Given the description of an element on the screen output the (x, y) to click on. 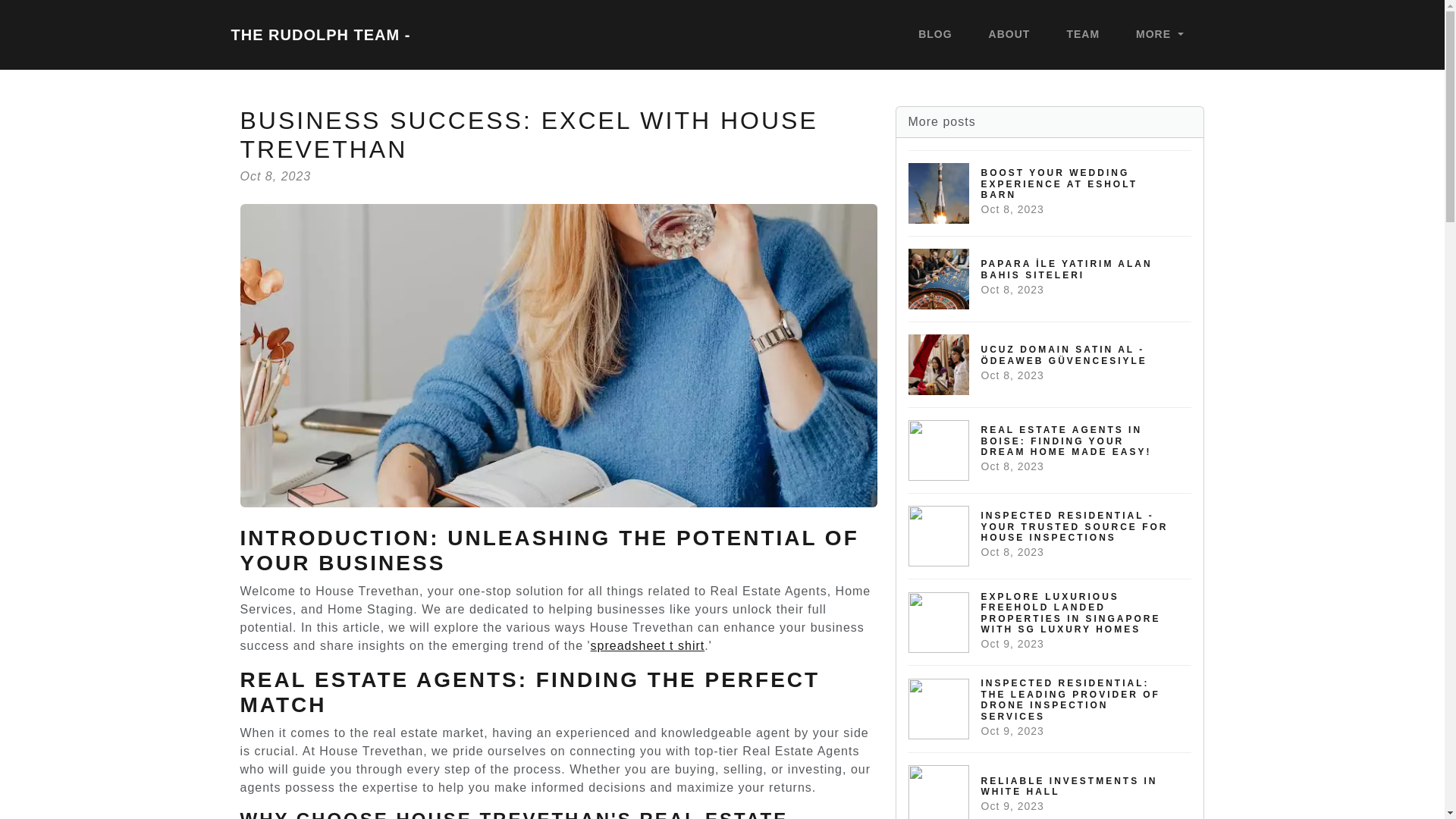
MORE (1159, 34)
THE RUDOLPH TEAM - (1050, 192)
spreadsheet t shirt (320, 34)
BLOG (1050, 785)
